Given the description of an element on the screen output the (x, y) to click on. 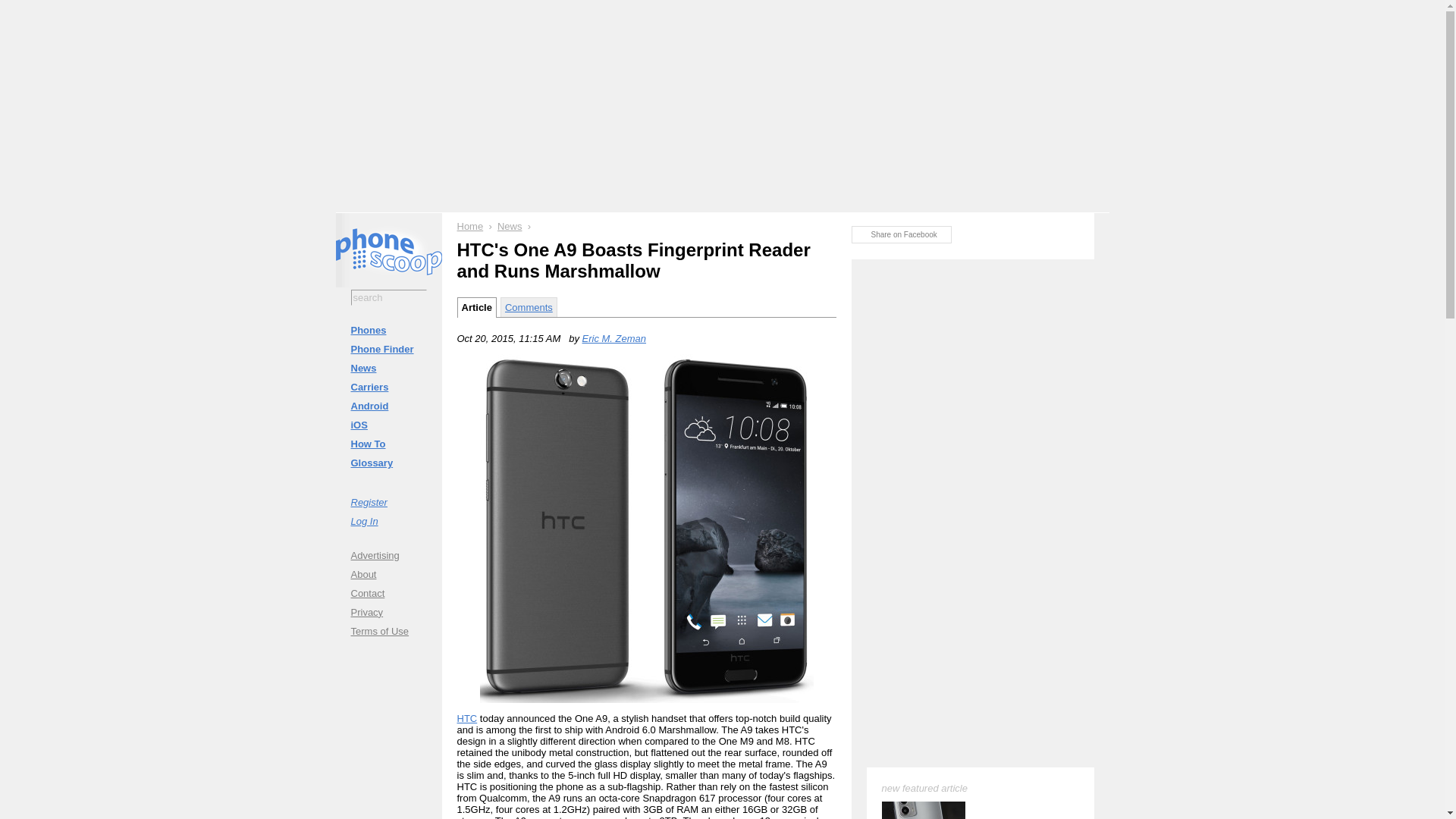
Android (387, 405)
How To (387, 443)
Share on Facebook (900, 234)
Comments (528, 306)
HTC (467, 717)
News (509, 225)
Home (470, 225)
Carriers (387, 386)
Phone Finder (387, 348)
Privacy (387, 610)
iOS (387, 424)
About (387, 573)
search (388, 297)
Log In (387, 520)
Terms of Use (387, 630)
